Given the description of an element on the screen output the (x, y) to click on. 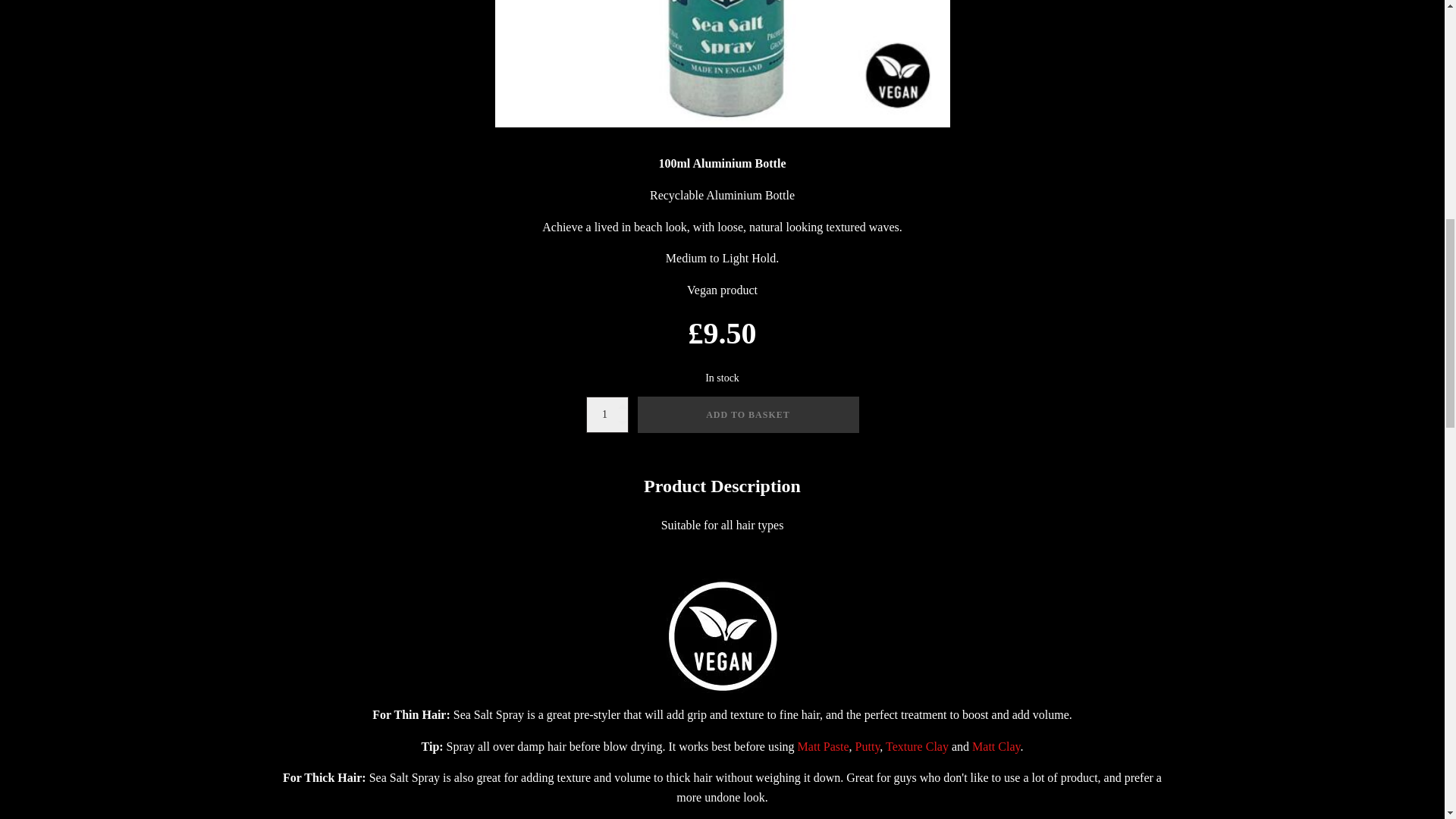
Sea-Salt-spray-100ml-vg (722, 63)
1 (606, 414)
